Given the description of an element on the screen output the (x, y) to click on. 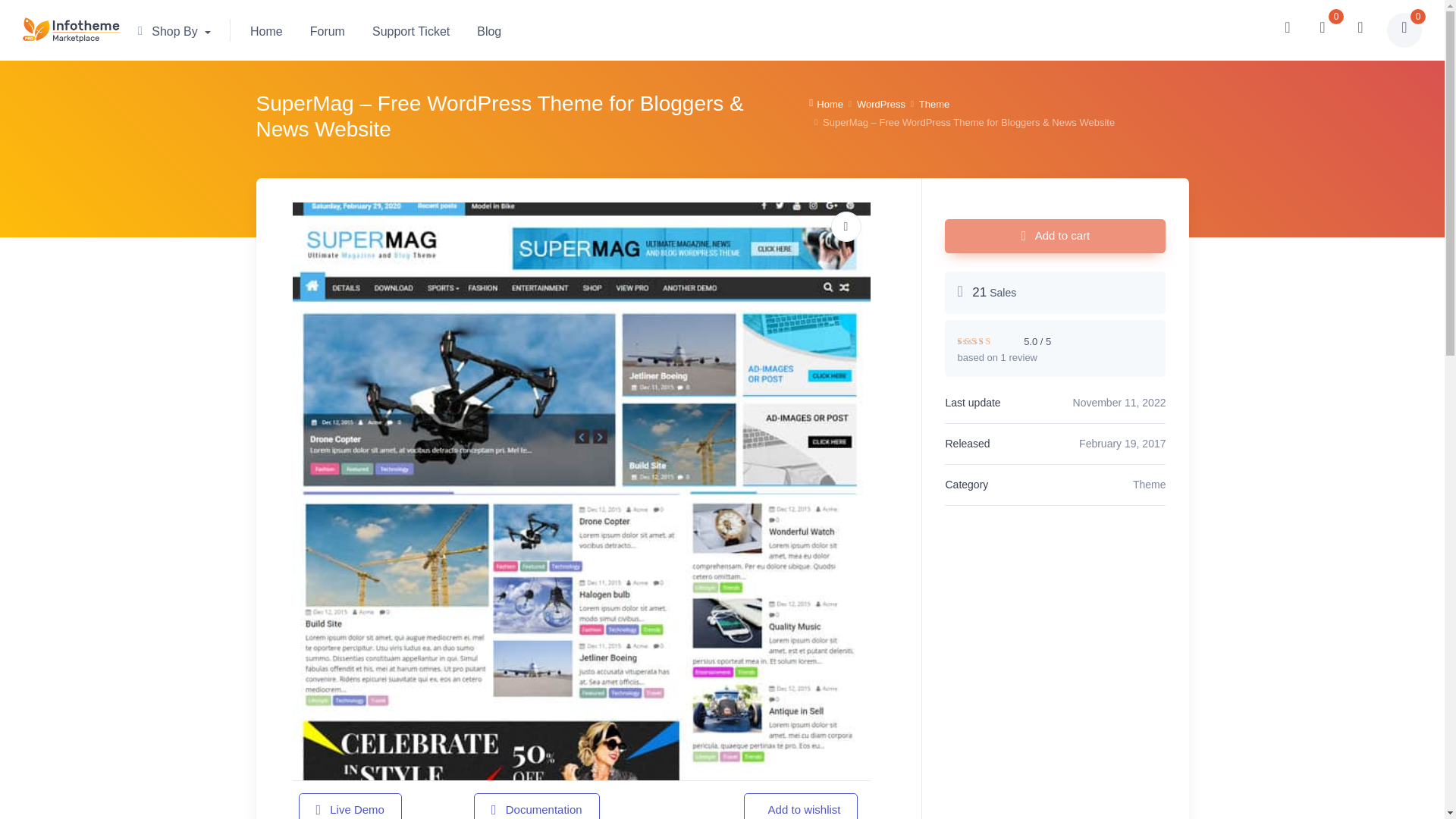
Blog (489, 30)
Home (266, 30)
Support Ticket (410, 30)
Home (826, 104)
WordPress (881, 104)
Home (266, 30)
Forum (327, 30)
Documentation (536, 806)
Live Demo (349, 806)
0 (1404, 30)
Shop By (181, 30)
Forum (327, 30)
Support Ticket (410, 30)
Blog (489, 30)
